Given the description of an element on the screen output the (x, y) to click on. 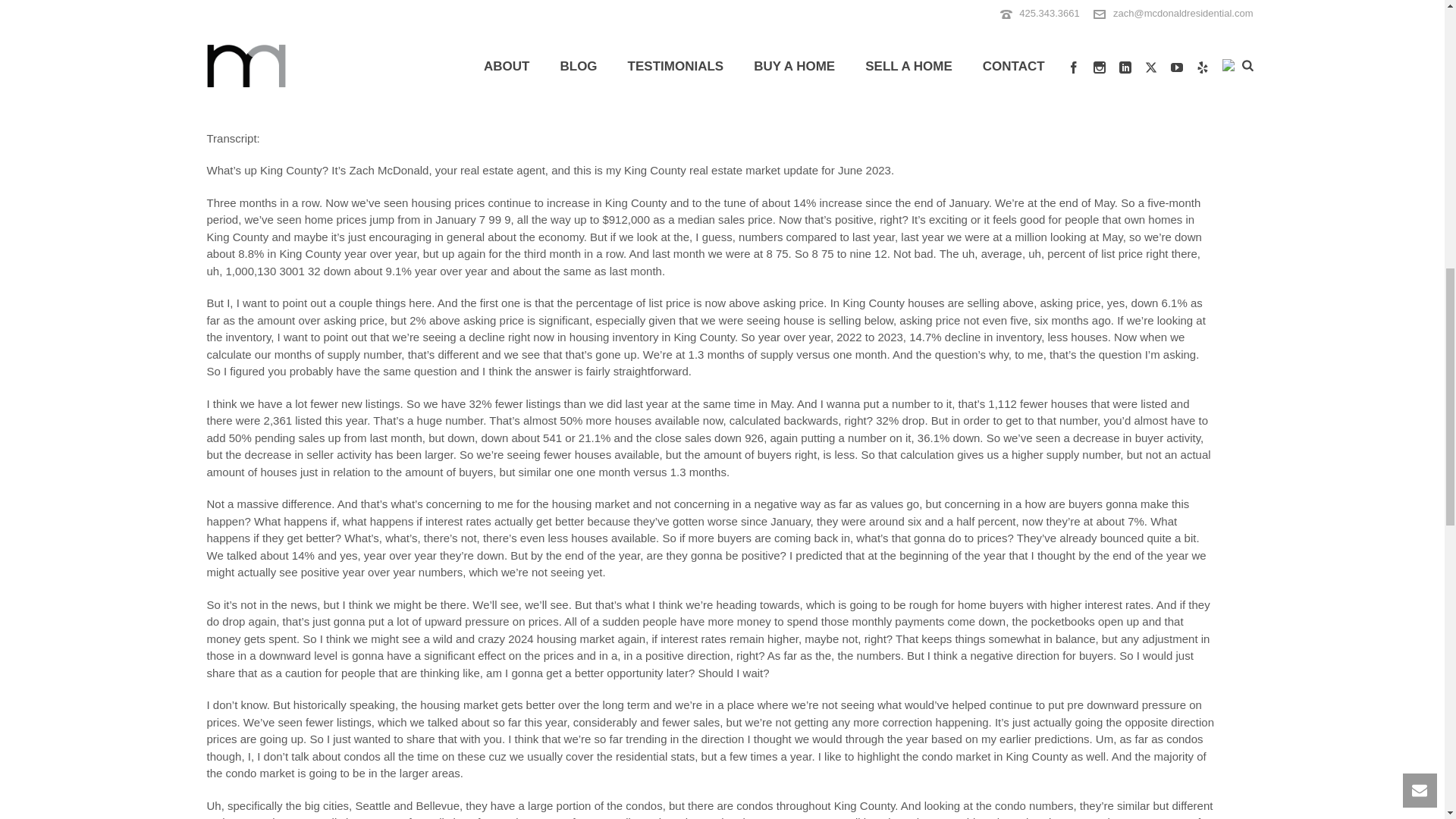
Print (1203, 5)
Posts by Zach McDonald (259, 4)
